Given the description of an element on the screen output the (x, y) to click on. 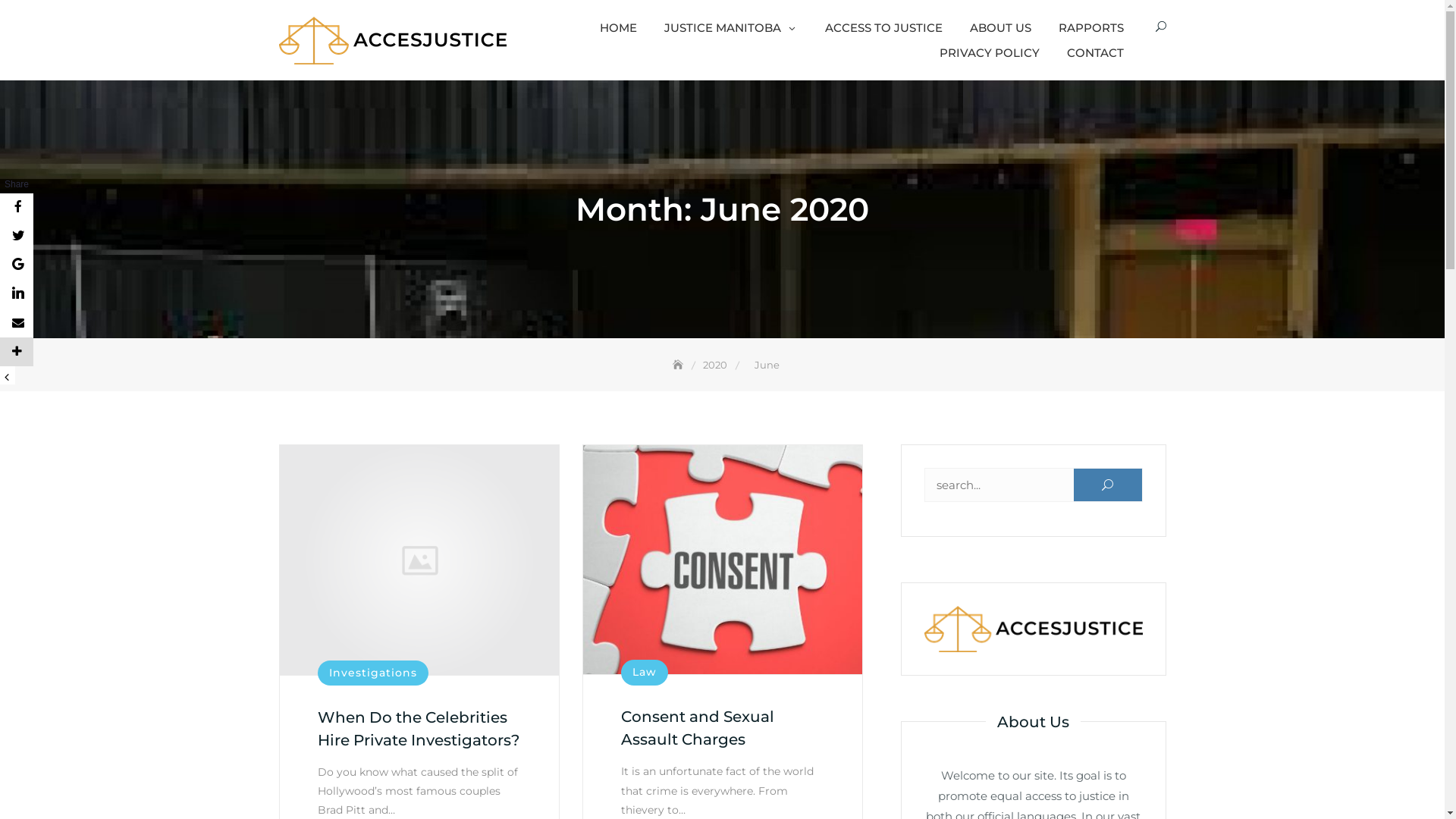
Share Consent and Sexual Assault Charges on Twitter Element type: hover (16, 236)
CONTACT Element type: text (1094, 52)
RAPPORTS Element type: text (1090, 27)
JUSTICE MANITOBA Element type: text (730, 27)
Share Consent and Sexual Assault Charges on Facebook Element type: hover (16, 207)
Law Element type: text (643, 671)
When Do the Celebrities Hire Private Investigators? Element type: text (417, 728)
Share Consent and Sexual Assault Charges on Email Element type: hover (16, 322)
Share Consent and Sexual Assault Charges on Linkedin Element type: hover (16, 293)
Home Element type: text (679, 364)
Consent and Sexual Assault Charges Element type: text (696, 727)
More... Element type: hover (16, 351)
PRIVACY POLICY Element type: text (988, 52)
HOME Element type: text (617, 27)
Share Consent and Sexual Assault Charges on Google Element type: hover (16, 265)
2020 Element type: text (716, 364)
Investigations Element type: text (371, 671)
ABOUT US Element type: text (999, 27)
Search Element type: text (34, 26)
ACCESS TO JUSTICE Element type: text (883, 27)
